Given the description of an element on the screen output the (x, y) to click on. 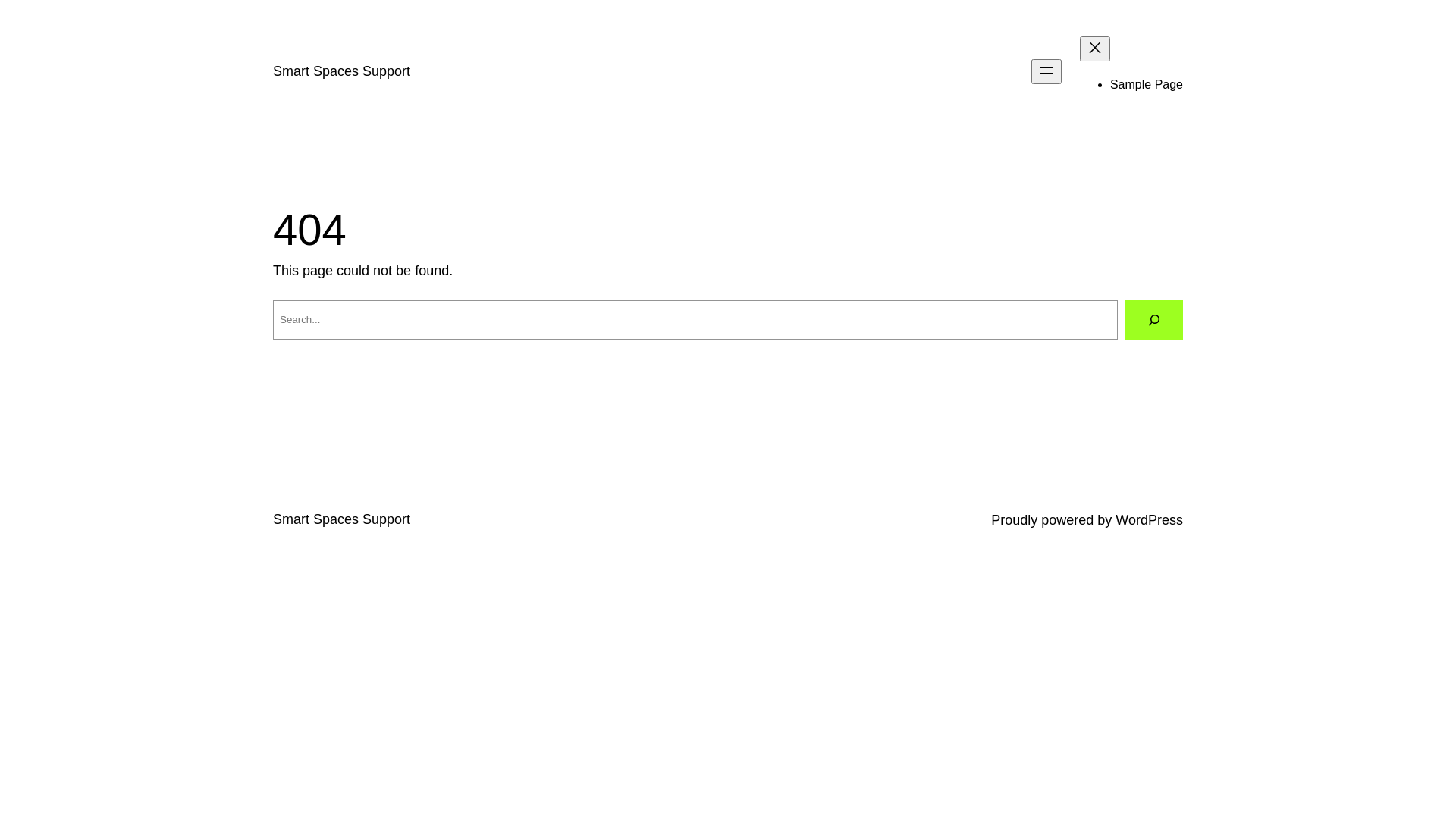
Smart Spaces Support Element type: text (341, 519)
Sample Page Element type: text (1146, 84)
WordPress Element type: text (1149, 519)
Smart Spaces Support Element type: text (341, 70)
